Given the description of an element on the screen output the (x, y) to click on. 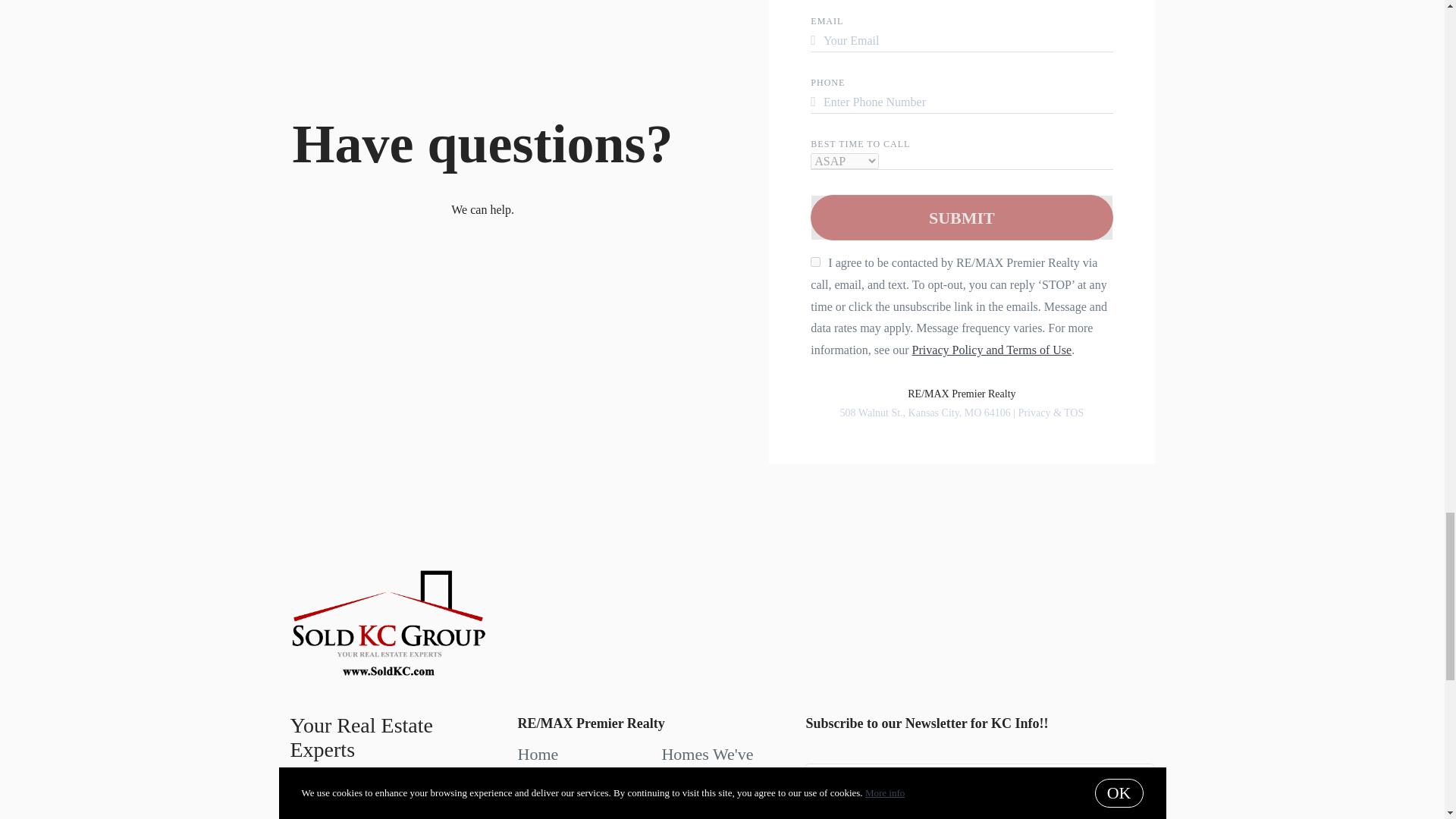
SUBMIT (961, 217)
on (815, 261)
Privacy Policy and Terms of Use (991, 349)
